Given the description of an element on the screen output the (x, y) to click on. 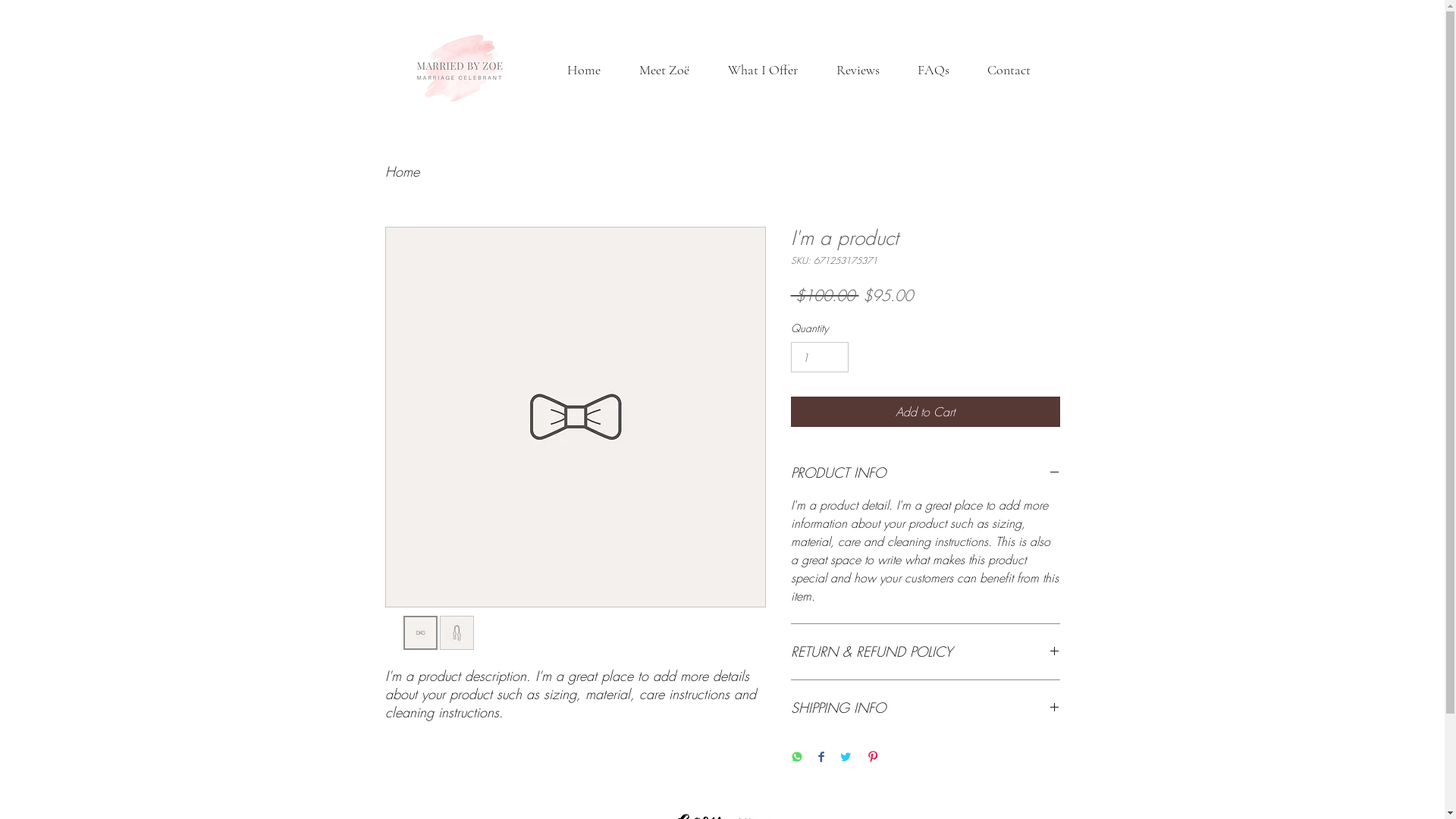
PRODUCT INFO Element type: text (924, 472)
Reviews Element type: text (857, 69)
RETURN & REFUND POLICY Element type: text (924, 651)
Home Element type: text (583, 69)
Add to Cart Element type: text (924, 411)
Contact Element type: text (1007, 69)
SHIPPING INFO Element type: text (924, 707)
Home Element type: text (402, 171)
FAQs Element type: text (932, 69)
What I Offer Element type: text (762, 69)
